Given the description of an element on the screen output the (x, y) to click on. 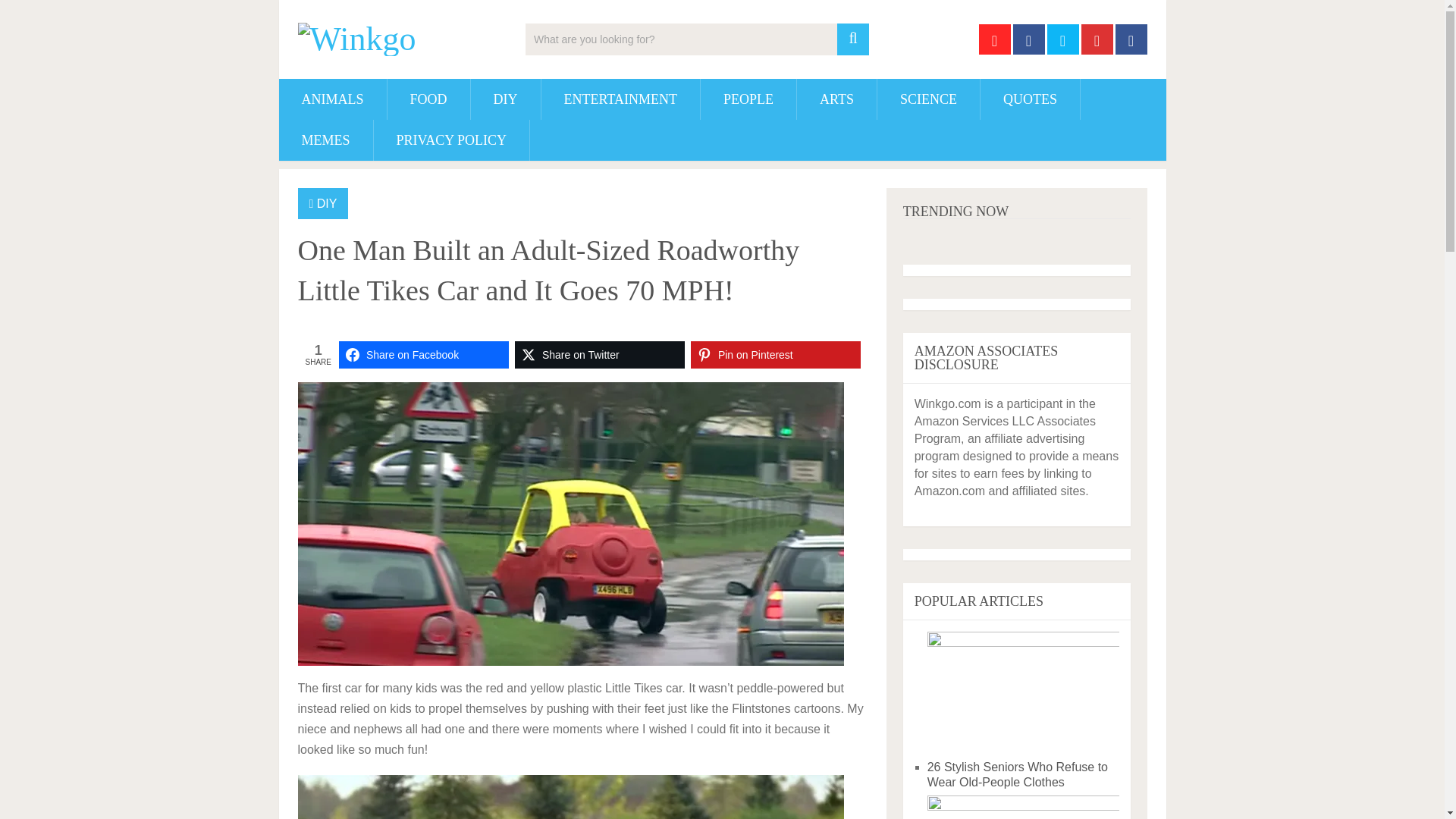
MEMES (325, 139)
Share on Facebook (423, 354)
Share on Pin on Pinterest (775, 354)
Share on Twitter (599, 354)
DIY (327, 203)
FOOD (428, 98)
PEOPLE (748, 98)
View all posts in DIY (327, 203)
Pin on Pinterest (775, 354)
Share on Share on Facebook (423, 354)
